Given the description of an element on the screen output the (x, y) to click on. 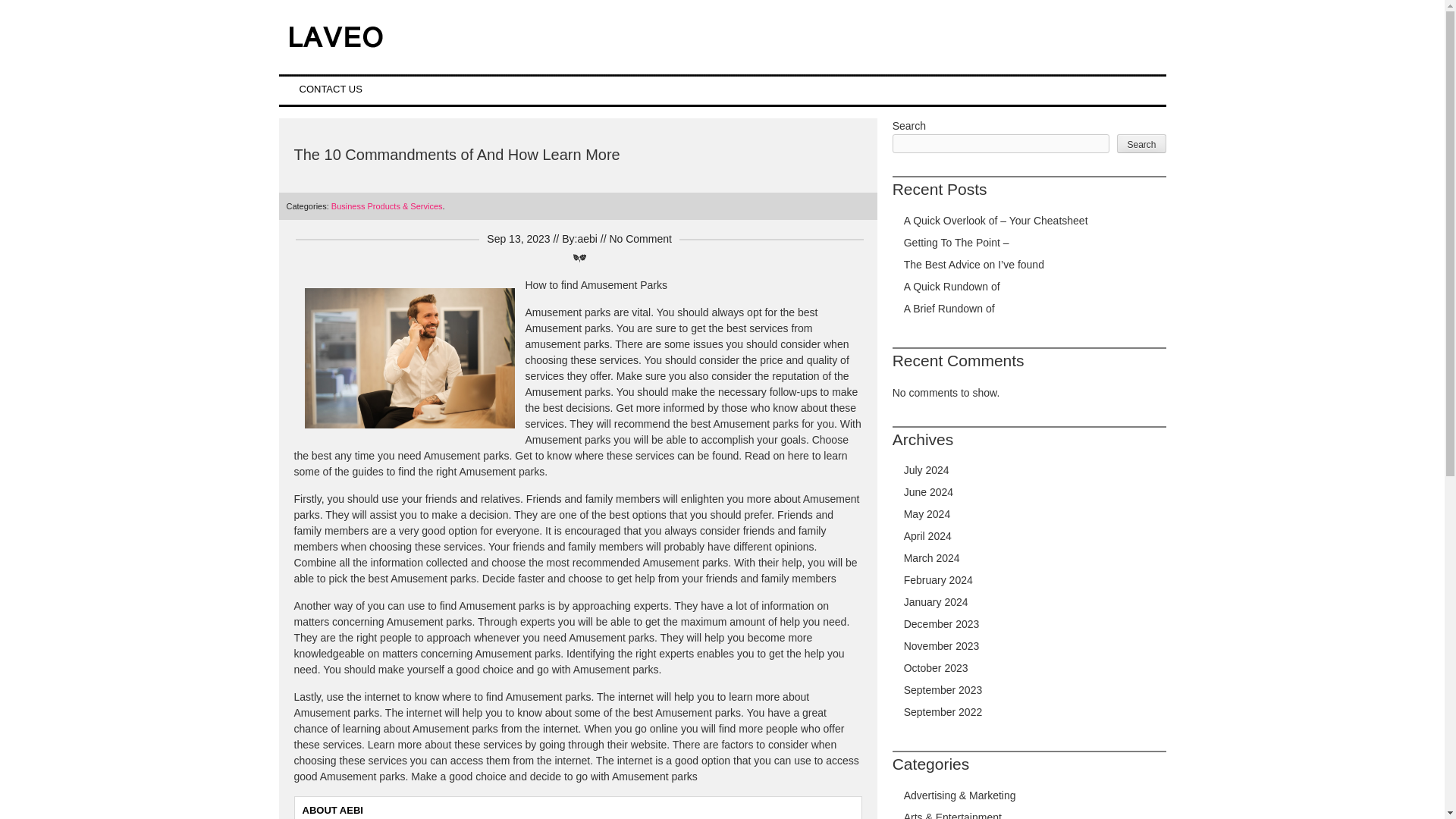
September 2022 (943, 711)
March 2024 (931, 558)
June 2024 (928, 491)
September 2023 (943, 689)
July 2024 (926, 469)
Search (1141, 143)
January 2024 (936, 602)
October 2023 (936, 667)
learn (835, 455)
April 2024 (928, 535)
CONTACT US (330, 89)
December 2023 (941, 623)
A Quick Rundown of (952, 286)
February 2024 (938, 580)
May 2024 (927, 513)
